Given the description of an element on the screen output the (x, y) to click on. 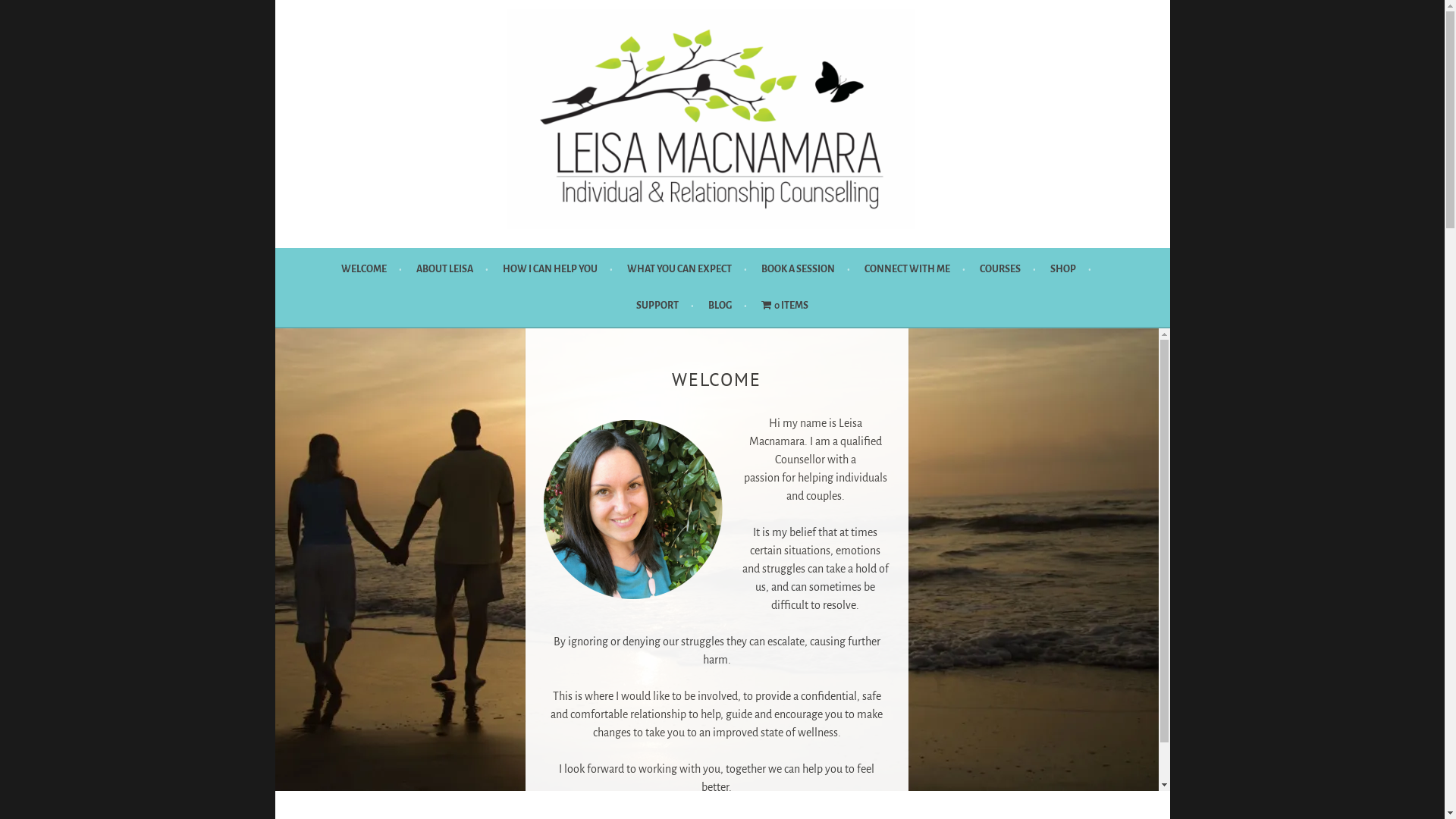
0 ITEMS Element type: text (784, 305)
CONNECT WITH ME Element type: text (914, 269)
HOW I CAN HELP YOU Element type: text (557, 269)
SHOP Element type: text (1070, 269)
WELCOME Element type: text (371, 269)
WHAT YOU CAN EXPECT Element type: text (686, 269)
COURSES Element type: text (1007, 269)
BOOK A SESSION Element type: text (805, 269)
BLOG Element type: text (727, 305)
ABOUT LEISA Element type: text (452, 269)
SUPPORT Element type: text (664, 305)
